Given the description of an element on the screen output the (x, y) to click on. 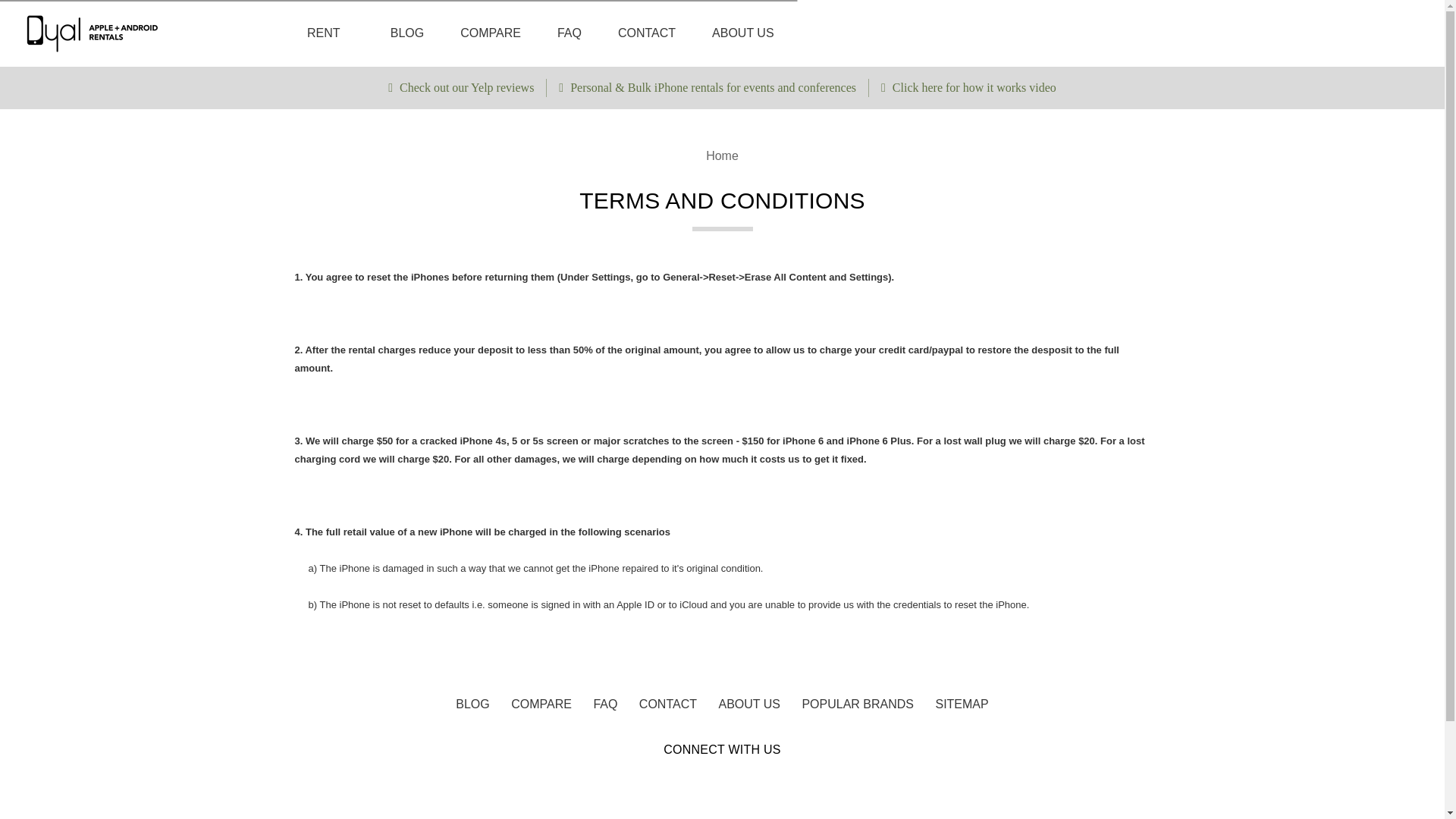
FAQ (604, 704)
Dyal Rental (93, 33)
RENT (330, 33)
CONTACT (646, 33)
BLOG (471, 704)
COMPARE (541, 704)
BLOG (407, 33)
FAQ (568, 33)
Home (722, 155)
COMPARE (490, 33)
ABOUT US (743, 33)
Check out our Yelp reviews (461, 87)
Click here for how it works video (968, 87)
